Given the description of an element on the screen output the (x, y) to click on. 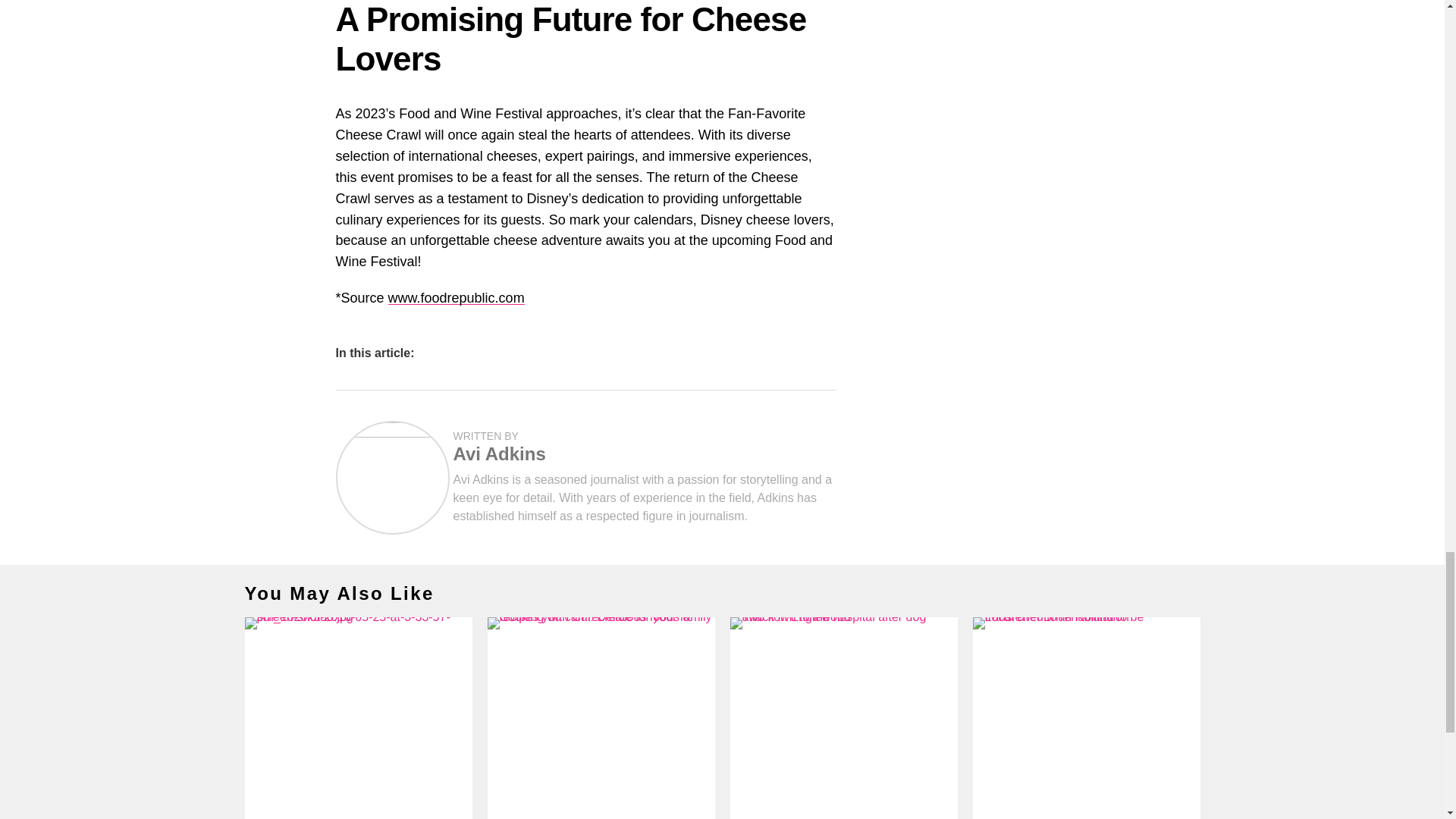
Posts by Avi Adkins (499, 453)
